Given the description of an element on the screen output the (x, y) to click on. 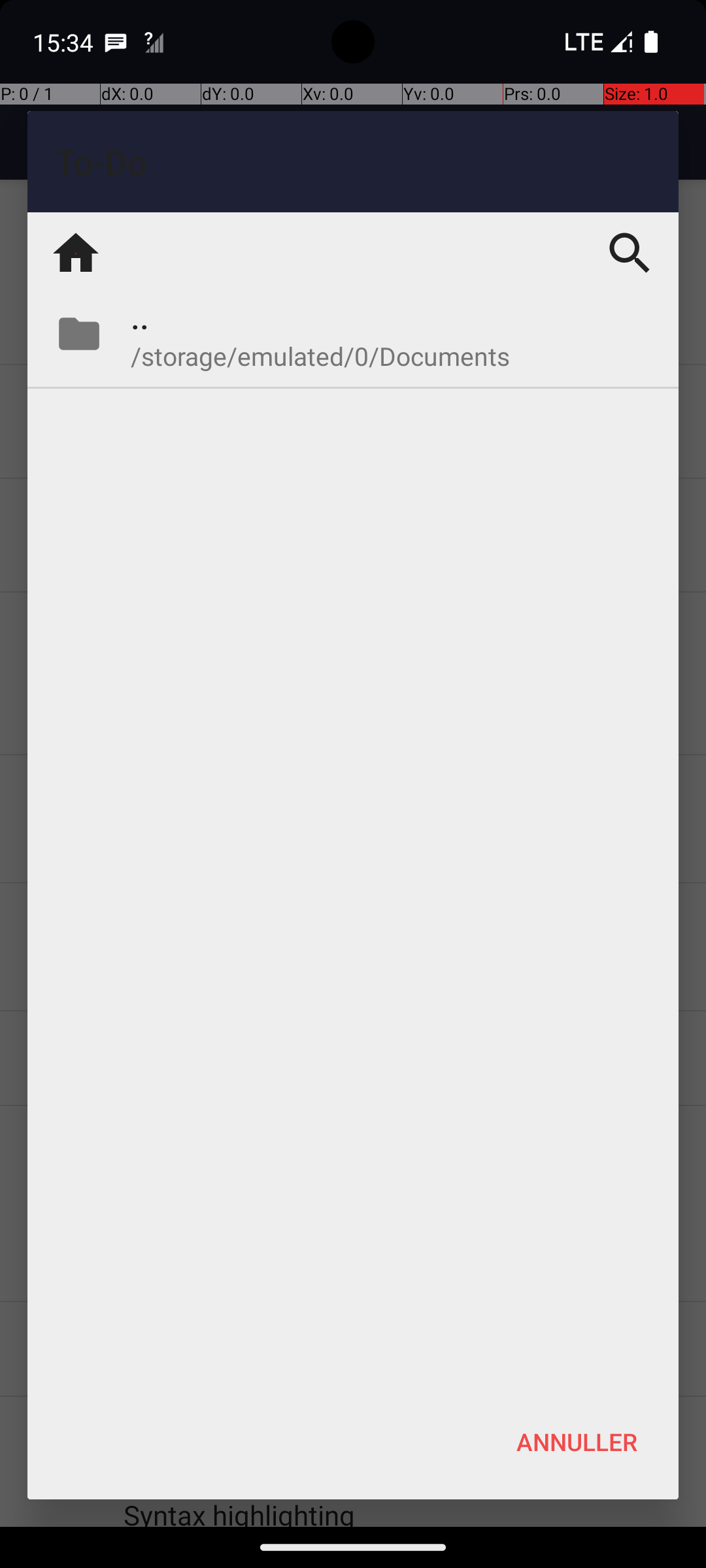
ANNULLER Element type: android.widget.TextView (576, 1441)
Mappe ..  Element type: android.widget.LinearLayout (352, 333)
